Given the description of an element on the screen output the (x, y) to click on. 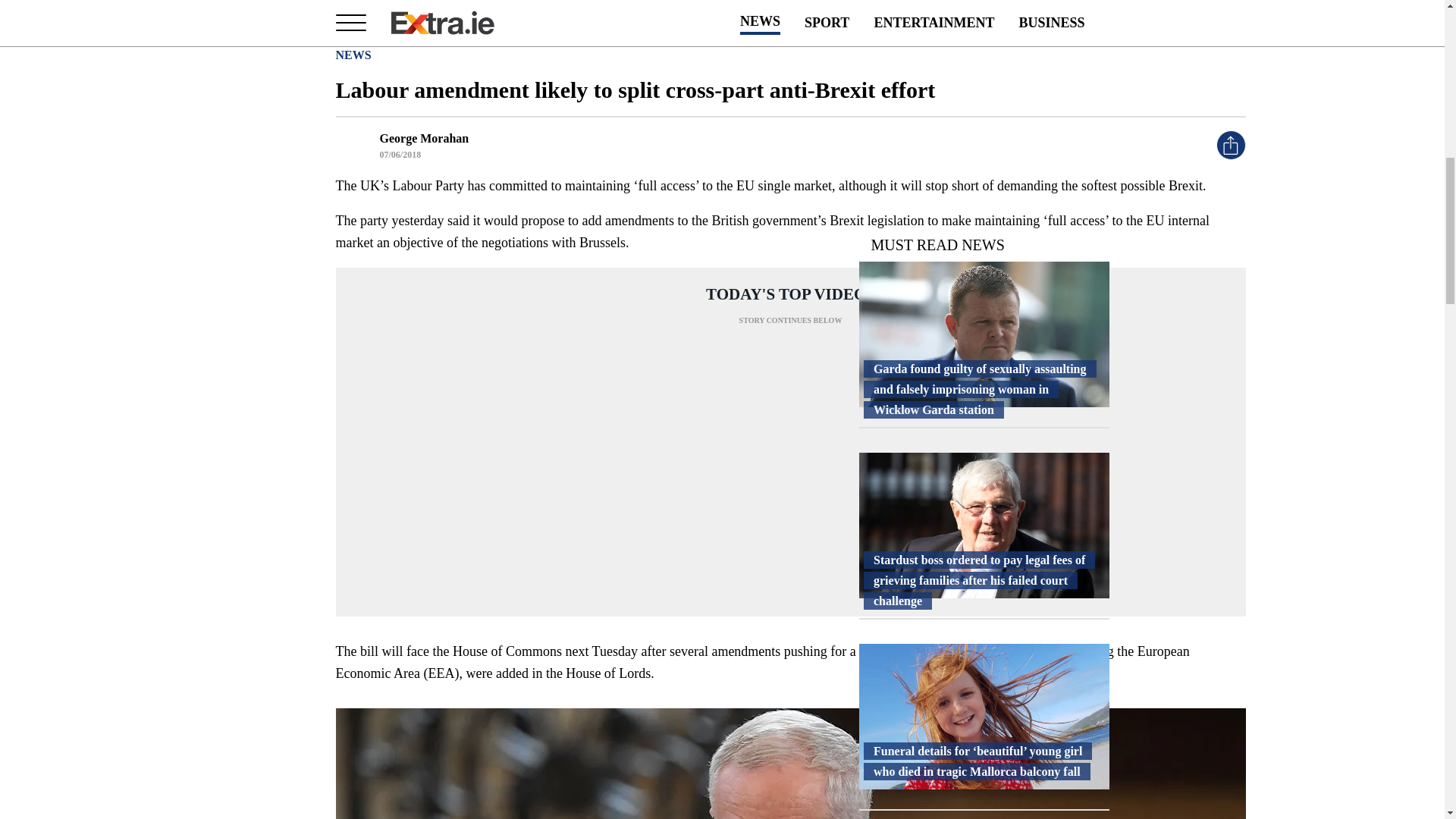
George Morahan (423, 137)
New homes being bought up by local authorities (983, 649)
NEWS (352, 54)
